Given the description of an element on the screen output the (x, y) to click on. 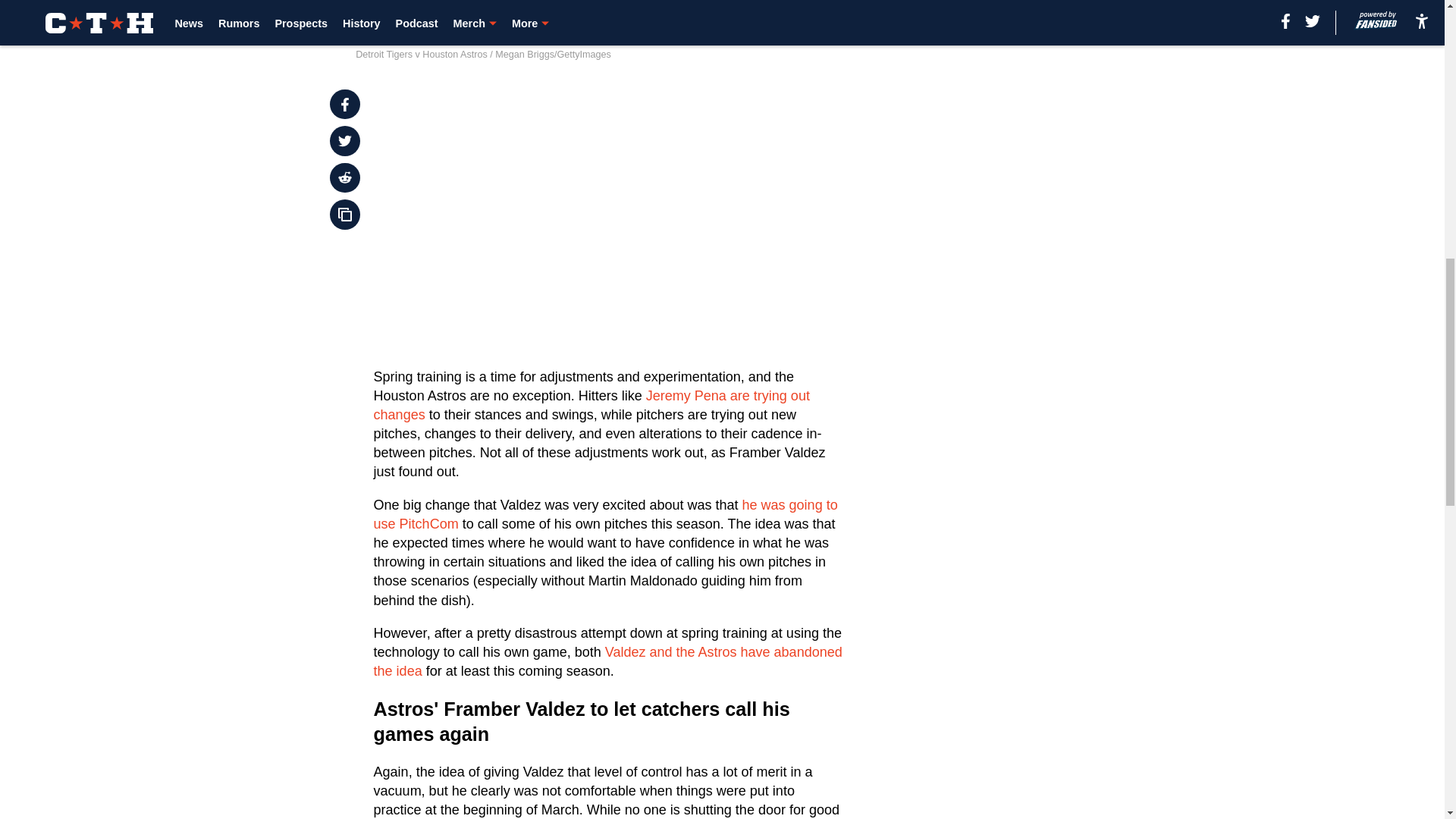
he was going to use PitchCom (606, 514)
Valdez and the Astros have abandoned the idea (608, 661)
Jeremy Pena are trying out changes (591, 405)
